Given the description of an element on the screen output the (x, y) to click on. 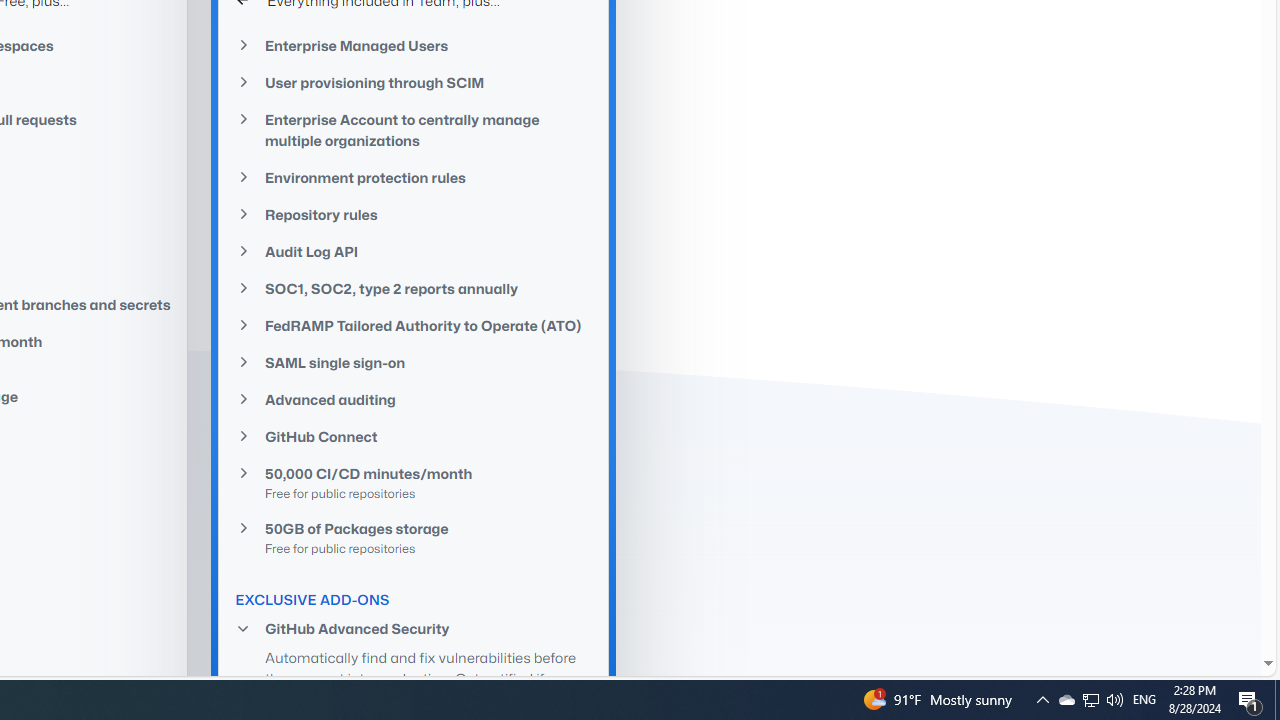
FedRAMP Tailored Authority to Operate (ATO) (413, 325)
Environment protection rules (413, 178)
SOC1, SOC2, type 2 reports annually (413, 289)
GitHub Advanced Security (413, 628)
GitHub Connect (413, 436)
50,000 CI/CD minutes/month Free for public repositories (413, 483)
SOC1, SOC2, type 2 reports annually (413, 288)
Audit Log API (413, 250)
Repository rules (413, 214)
Enterprise Managed Users (413, 45)
50GB of Packages storage Free for public repositories (413, 537)
Repository rules (413, 214)
Enterprise Managed Users (413, 44)
GitHub Connect (413, 435)
50GB of Packages storageFree for public repositories (413, 537)
